Given the description of an element on the screen output the (x, y) to click on. 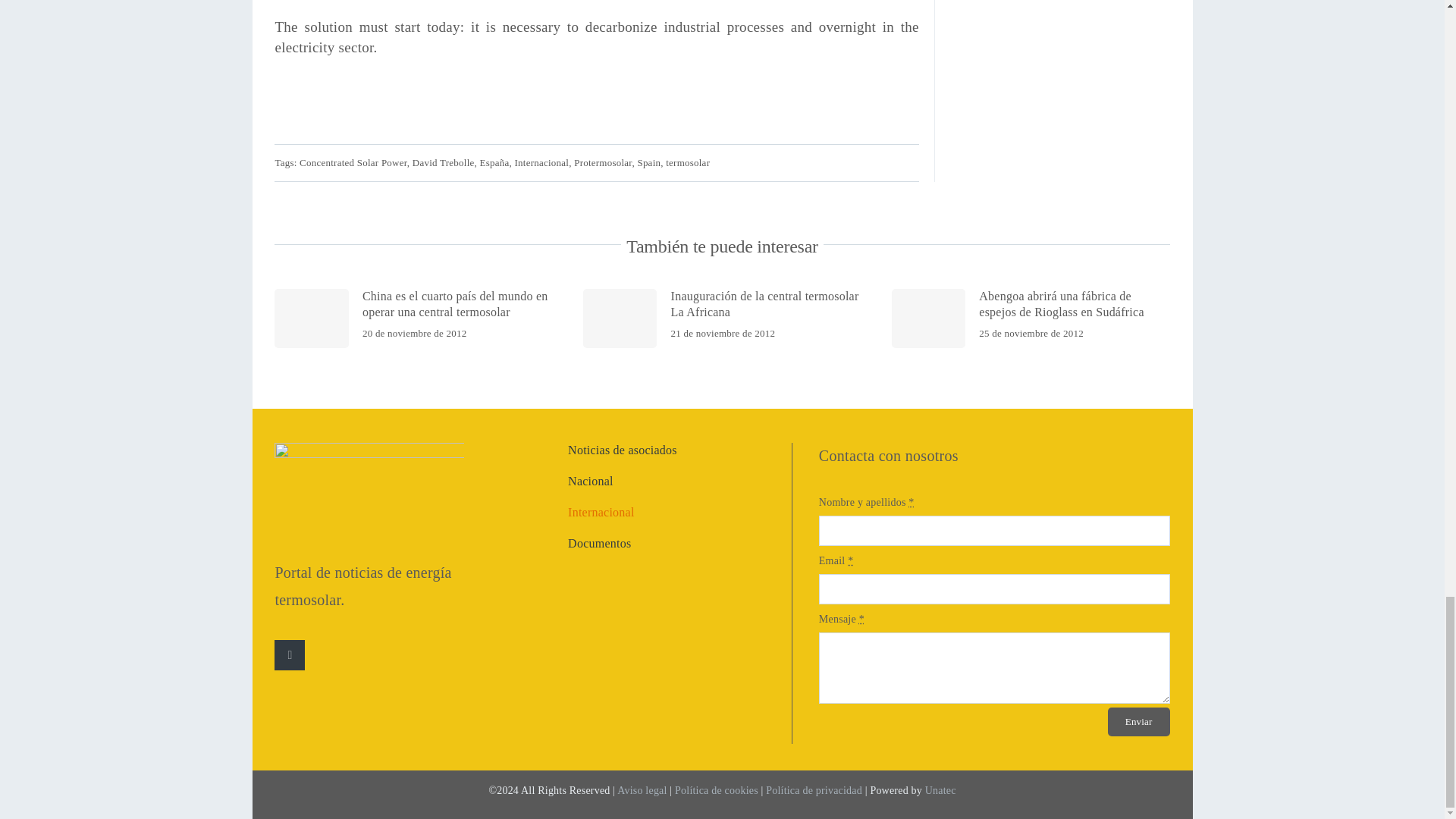
Concentrated Solar Power (353, 162)
LinkedIn (289, 654)
required (911, 501)
required (861, 618)
Spain (649, 162)
Protermosolar (602, 162)
required (850, 560)
David Trebolle (443, 162)
termosolar (687, 162)
Internacional (541, 162)
